Given the description of an element on the screen output the (x, y) to click on. 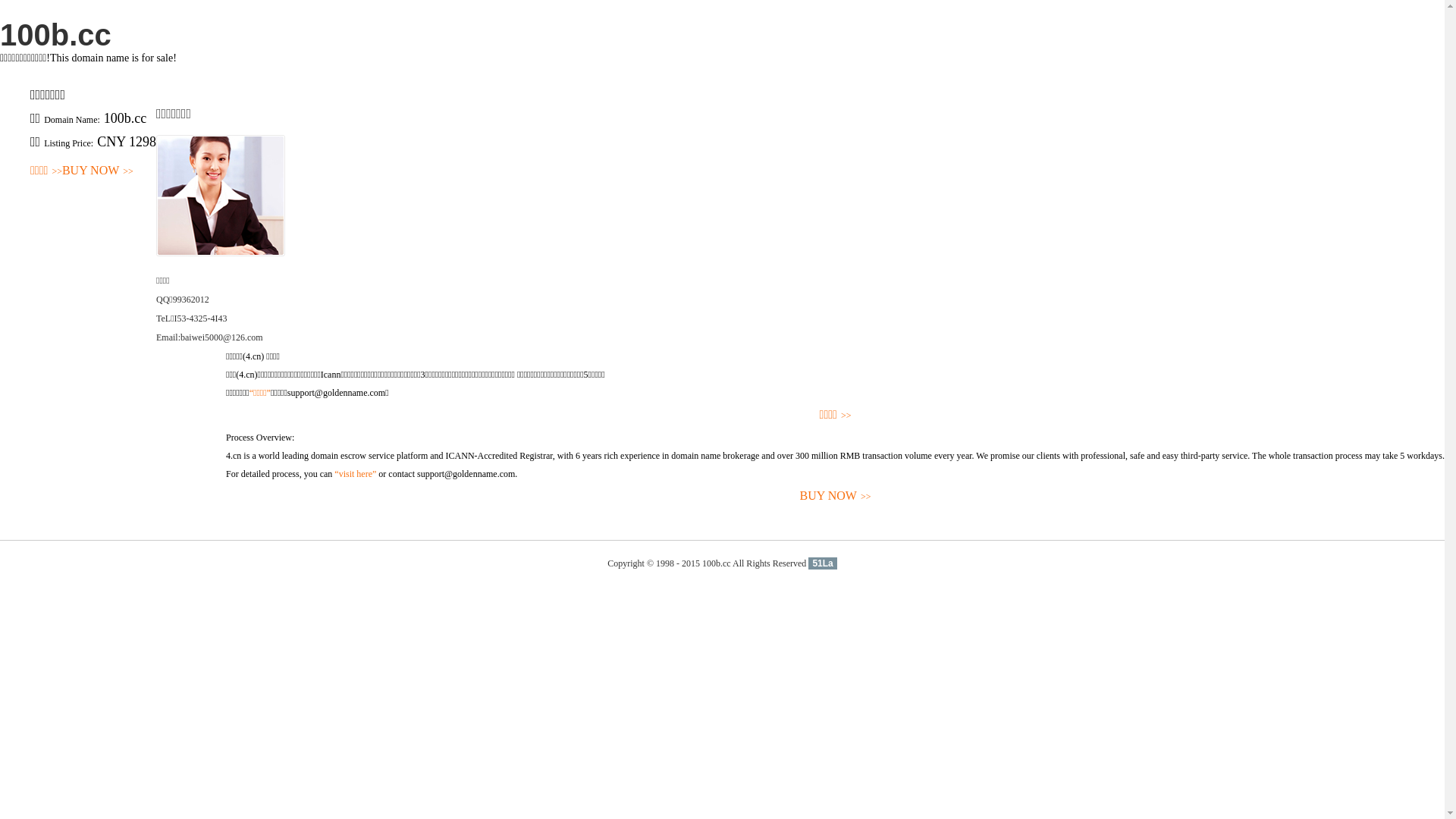
BUY NOW>> Element type: text (97, 170)
BUY NOW>> Element type: text (834, 496)
51La Element type: text (822, 563)
